Given the description of an element on the screen output the (x, y) to click on. 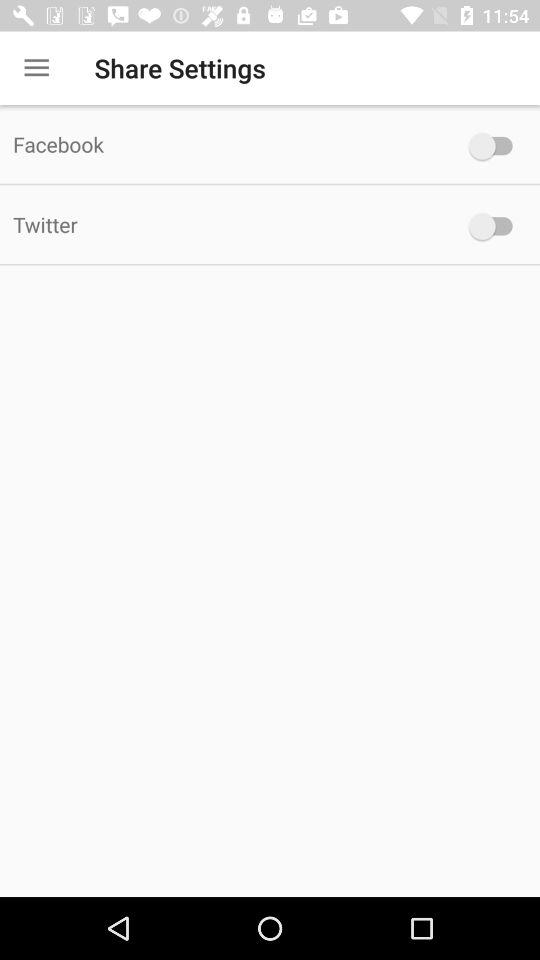
twitter switch (495, 226)
